Given the description of an element on the screen output the (x, y) to click on. 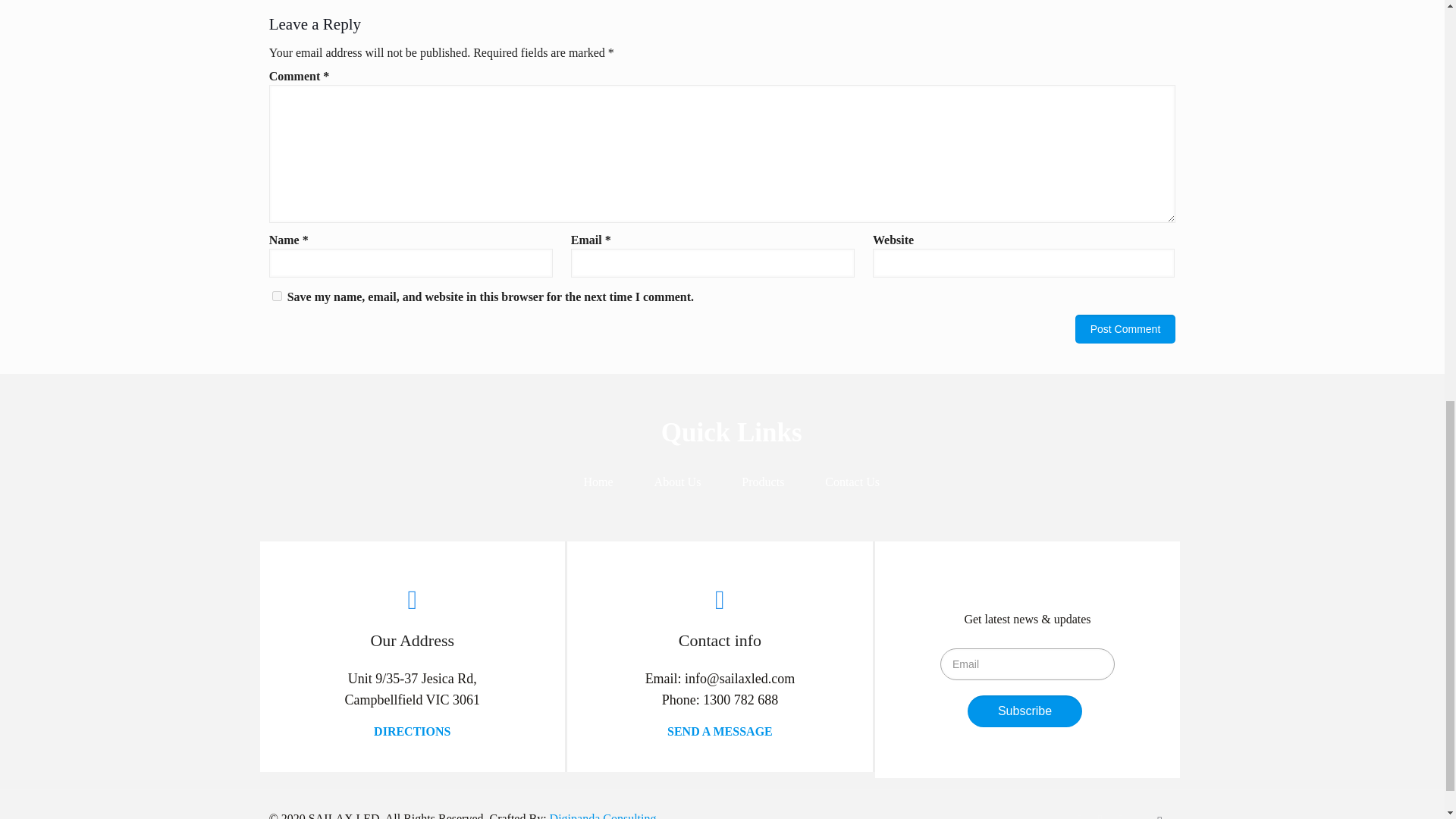
Phone: 1300 782 688 (720, 699)
Post Comment (1125, 328)
About Us (677, 482)
SEND A MESSAGE (719, 730)
Post Comment (1125, 328)
Products (762, 482)
LinkedIn (1120, 816)
DIRECTIONS (411, 730)
Facebook (1079, 816)
Home (597, 482)
Subscribe (1024, 711)
Subscribe (1024, 711)
yes (277, 296)
Twitter (1100, 816)
Contact Us (852, 482)
